Given the description of an element on the screen output the (x, y) to click on. 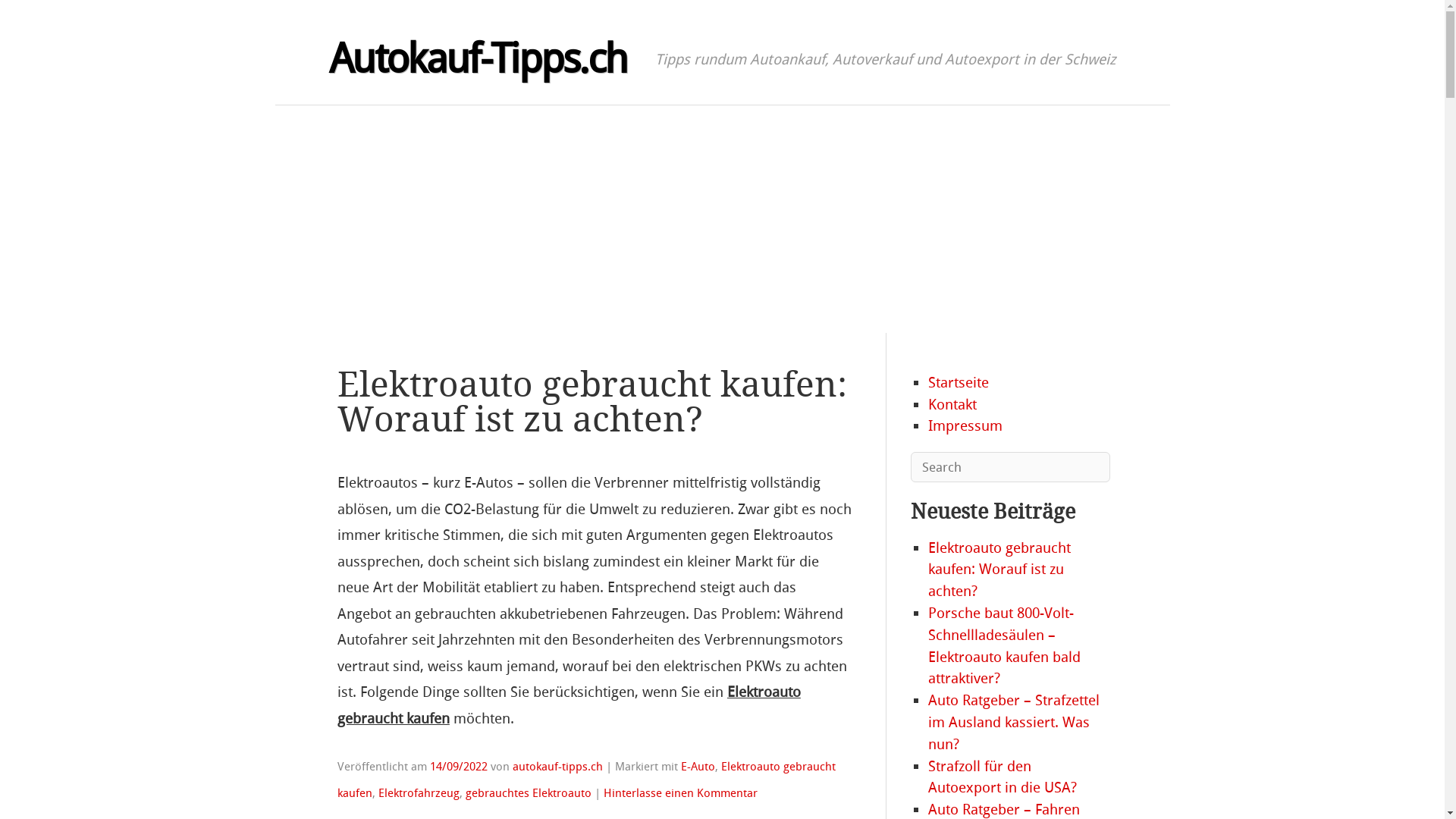
Elektrofahrzeug Element type: text (418, 793)
14/09/2022 Element type: text (458, 766)
E-Auto Element type: text (697, 766)
Kontakt Element type: text (952, 404)
Hinterlasse einen Kommentar Element type: text (680, 793)
gebrauchtes Elektroauto Element type: text (528, 793)
Autokauf-Tipps.ch Element type: text (477, 58)
Elektroauto gebraucht kaufen Element type: text (586, 779)
Elektroauto gebraucht kaufen: Worauf ist zu achten? Element type: text (999, 569)
Elektroauto gebraucht kaufen: Worauf ist zu achten? Element type: text (592, 402)
Impressum Element type: text (965, 425)
Search Element type: text (45, 17)
Advertisement Element type: hover (721, 218)
autokauf-tipps.ch Element type: text (557, 766)
Startseite Element type: text (958, 382)
